Given the description of an element on the screen output the (x, y) to click on. 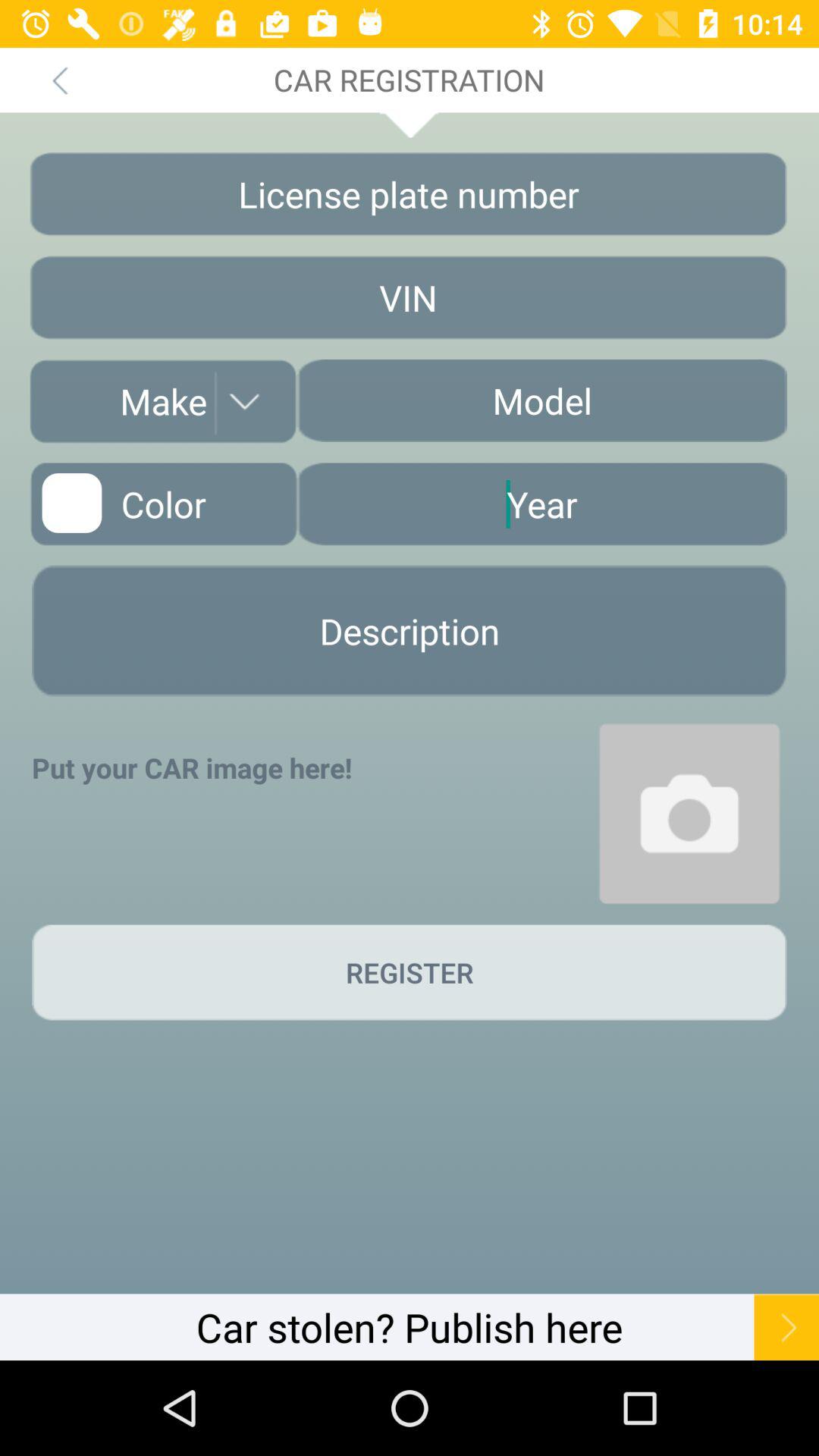
open color selector option (163, 503)
